Given the description of an element on the screen output the (x, y) to click on. 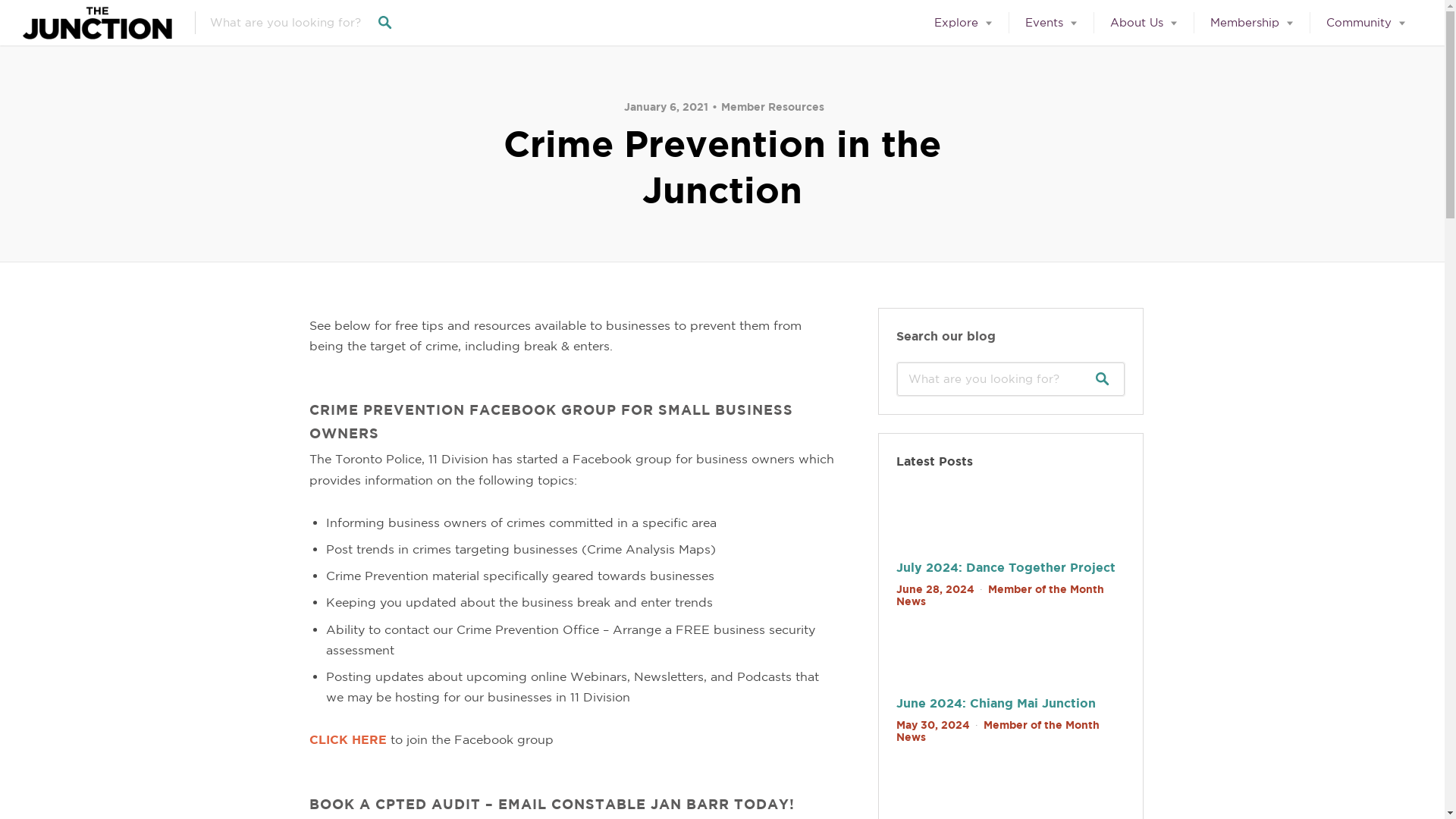
About Us (1143, 22)
Membership (1250, 22)
Events (1051, 22)
Explore (963, 22)
